Given the description of an element on the screen output the (x, y) to click on. 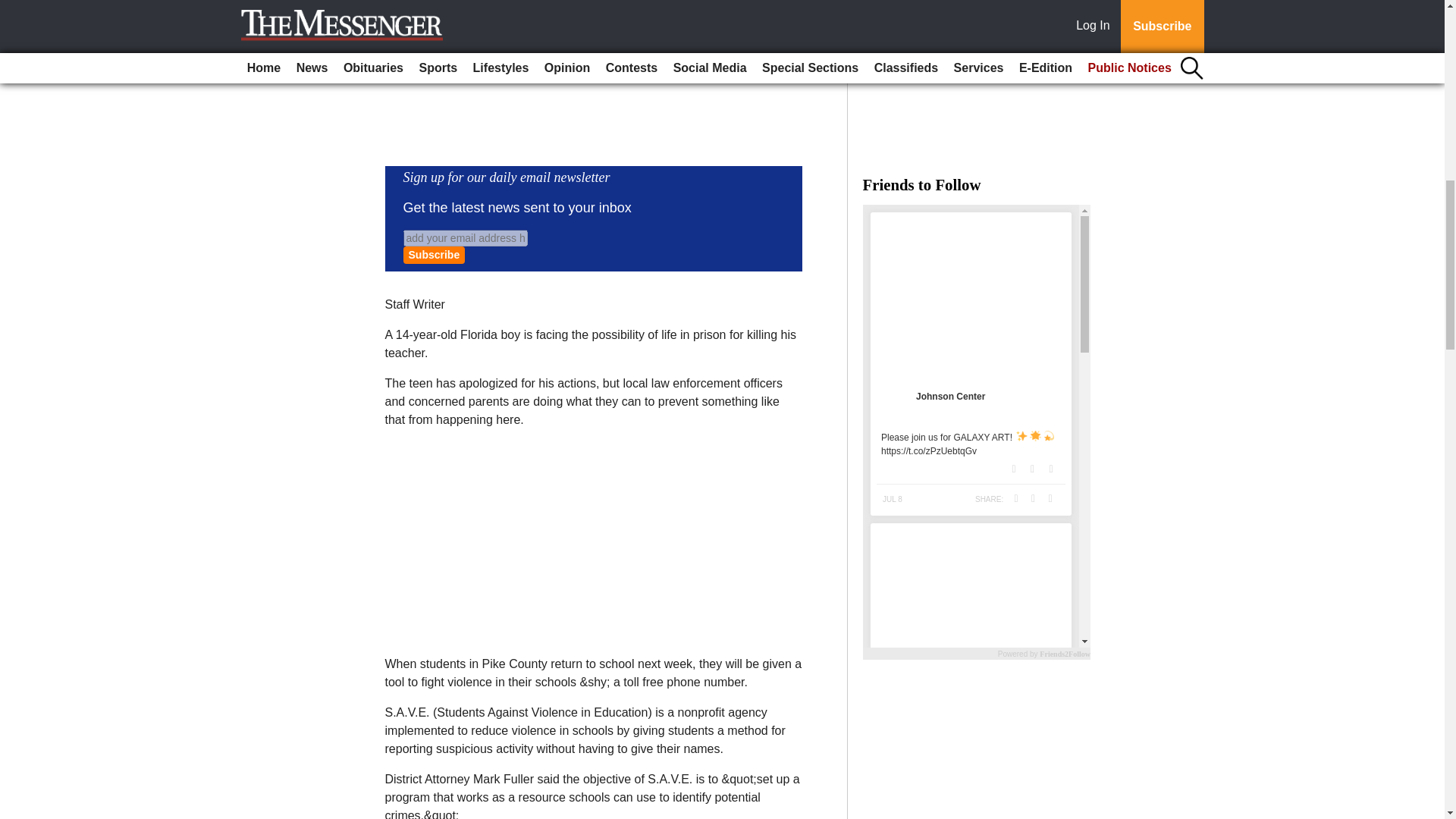
Subscribe (434, 254)
